Given the description of an element on the screen output the (x, y) to click on. 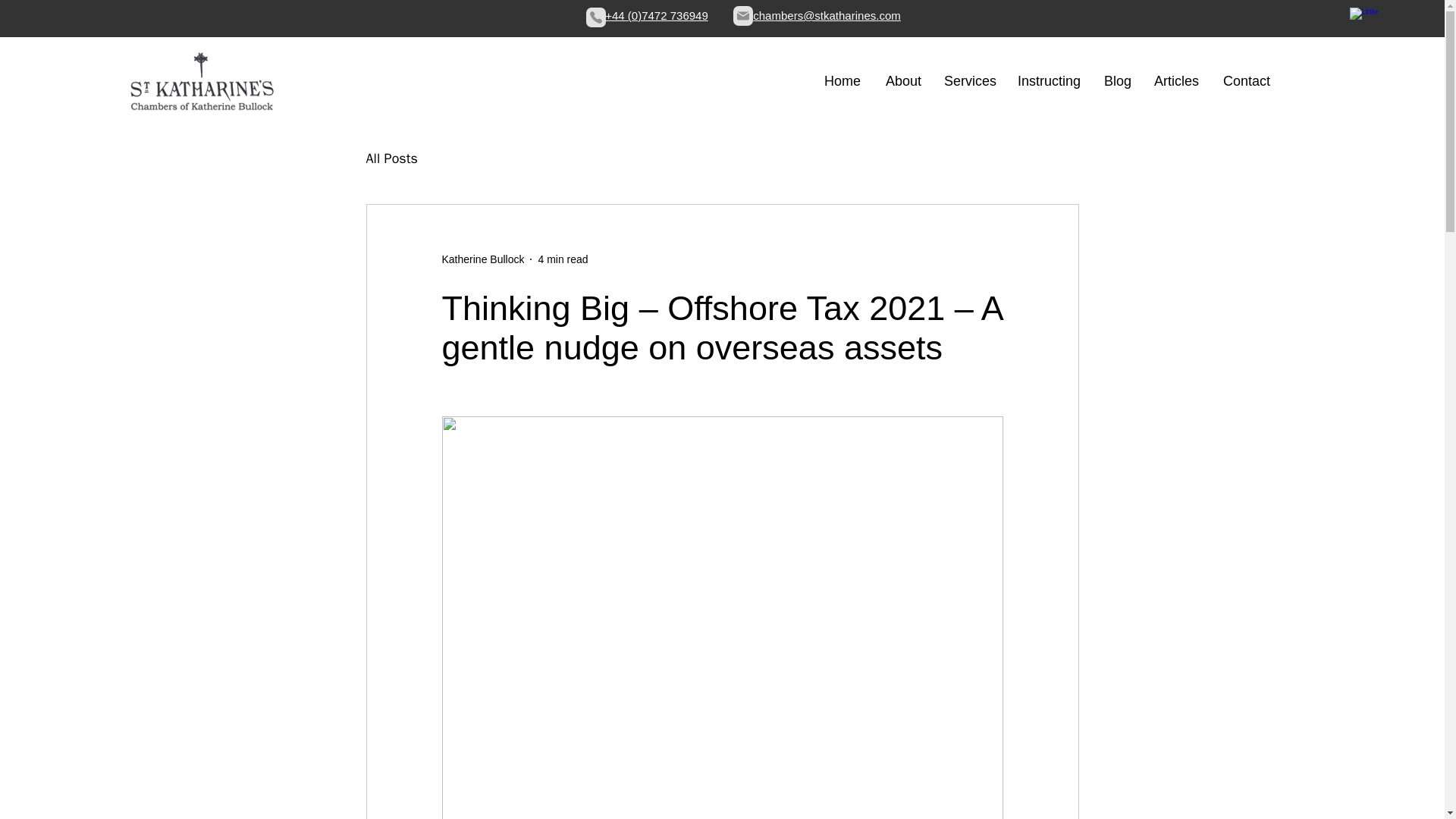
4 min read (562, 259)
Blog (1117, 80)
Katherine Bullock (482, 259)
Articles (1175, 80)
Services (968, 80)
Home (842, 80)
Instructing (1048, 80)
All Posts (390, 158)
About (902, 80)
Contact (1245, 80)
